Given the description of an element on the screen output the (x, y) to click on. 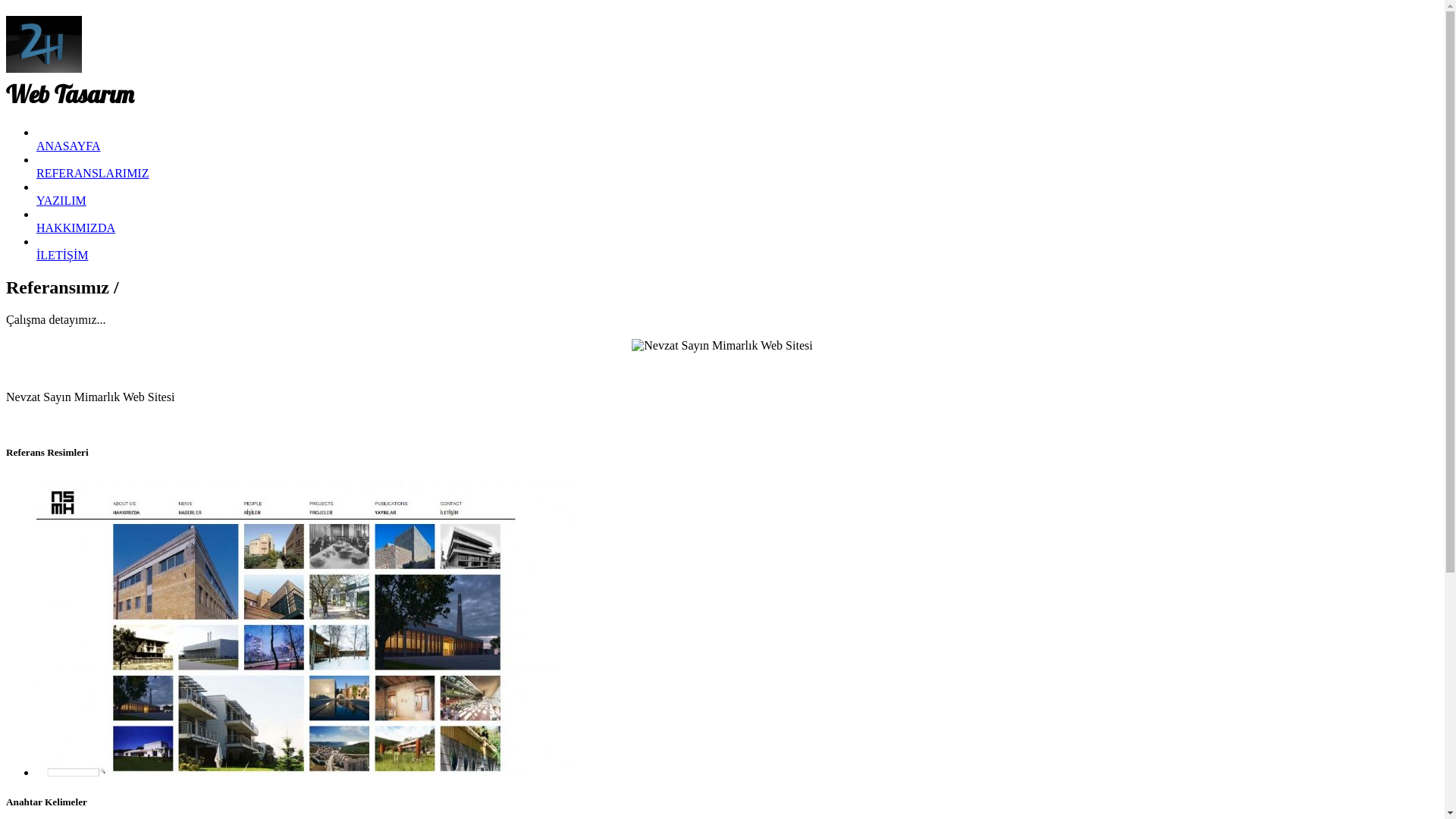
HAKKIMIZDA Element type: text (75, 234)
REFERANSLARIMIZ Element type: text (92, 179)
ANASAYFA Element type: text (68, 152)
YAZILIM Element type: text (61, 207)
